Given the description of an element on the screen output the (x, y) to click on. 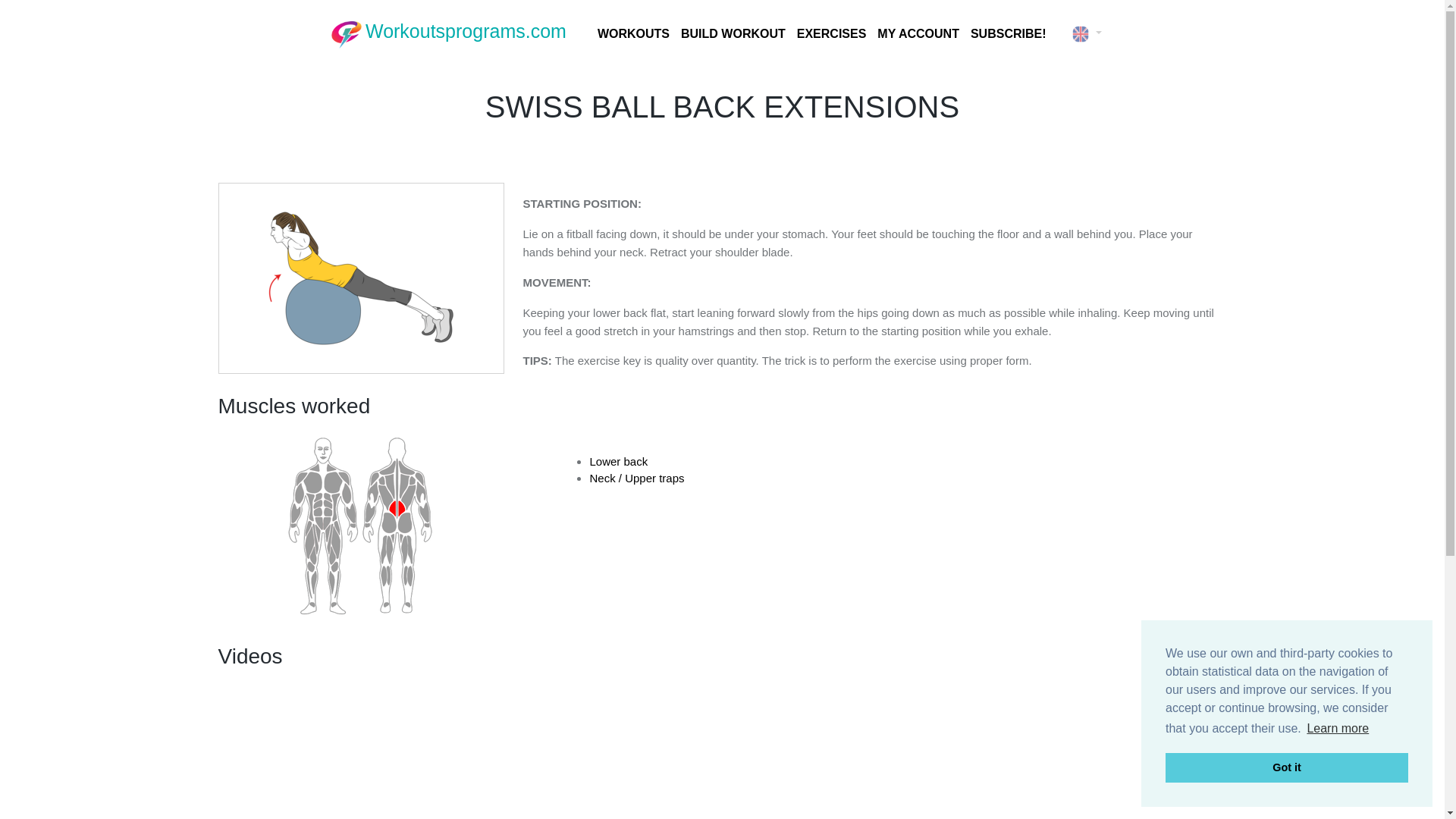
Workoutsprograms.com (449, 33)
Learn more (1337, 728)
Got it (1286, 767)
YouTube video player (721, 749)
MY ACCOUNT (915, 33)
SUBSCRIBE! (1005, 33)
Lower back (618, 461)
BUILD WORKOUT (730, 33)
EXERCISES (829, 33)
WORKOUTS (630, 33)
